Given the description of an element on the screen output the (x, y) to click on. 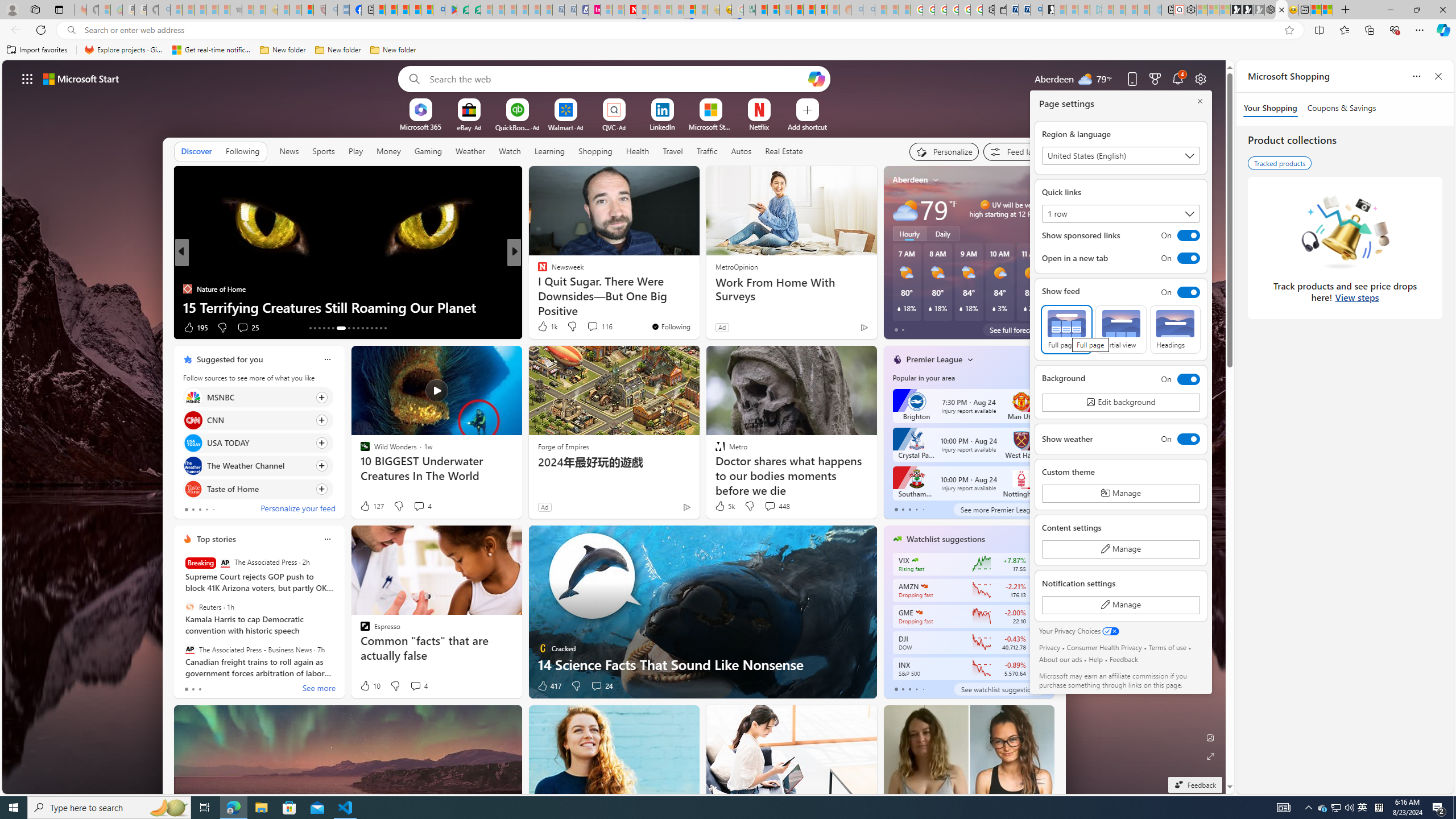
Class: select-setting-fluent-select  (1120, 213)
Daily (942, 233)
Class: weather-arrow-glyph (1043, 208)
To get missing image descriptions, open the context menu. (420, 109)
AutomationID: tab-19 (340, 328)
Gaming (428, 151)
UV will be very high starting at 12 PM (1040, 208)
View comments 116 Comment (592, 326)
CNN (192, 419)
